Given the description of an element on the screen output the (x, y) to click on. 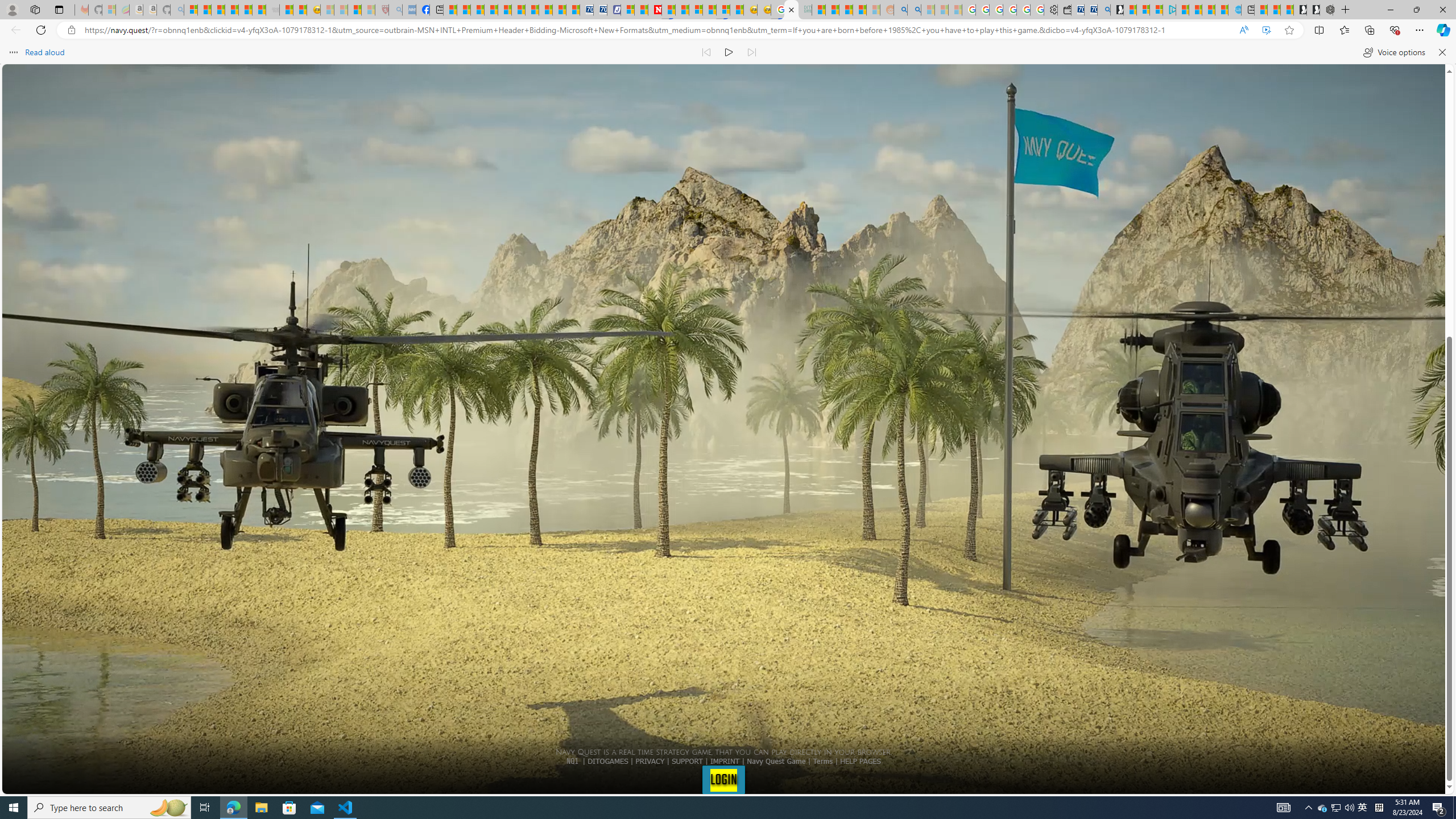
Navy Quest Game (776, 760)
Combat Siege - Sleeping (271, 9)
Bing Real Estate - Home sales and rental listings (1103, 9)
12 Popular Science Lies that Must be Corrected - Sleeping (368, 9)
